Given the description of an element on the screen output the (x, y) to click on. 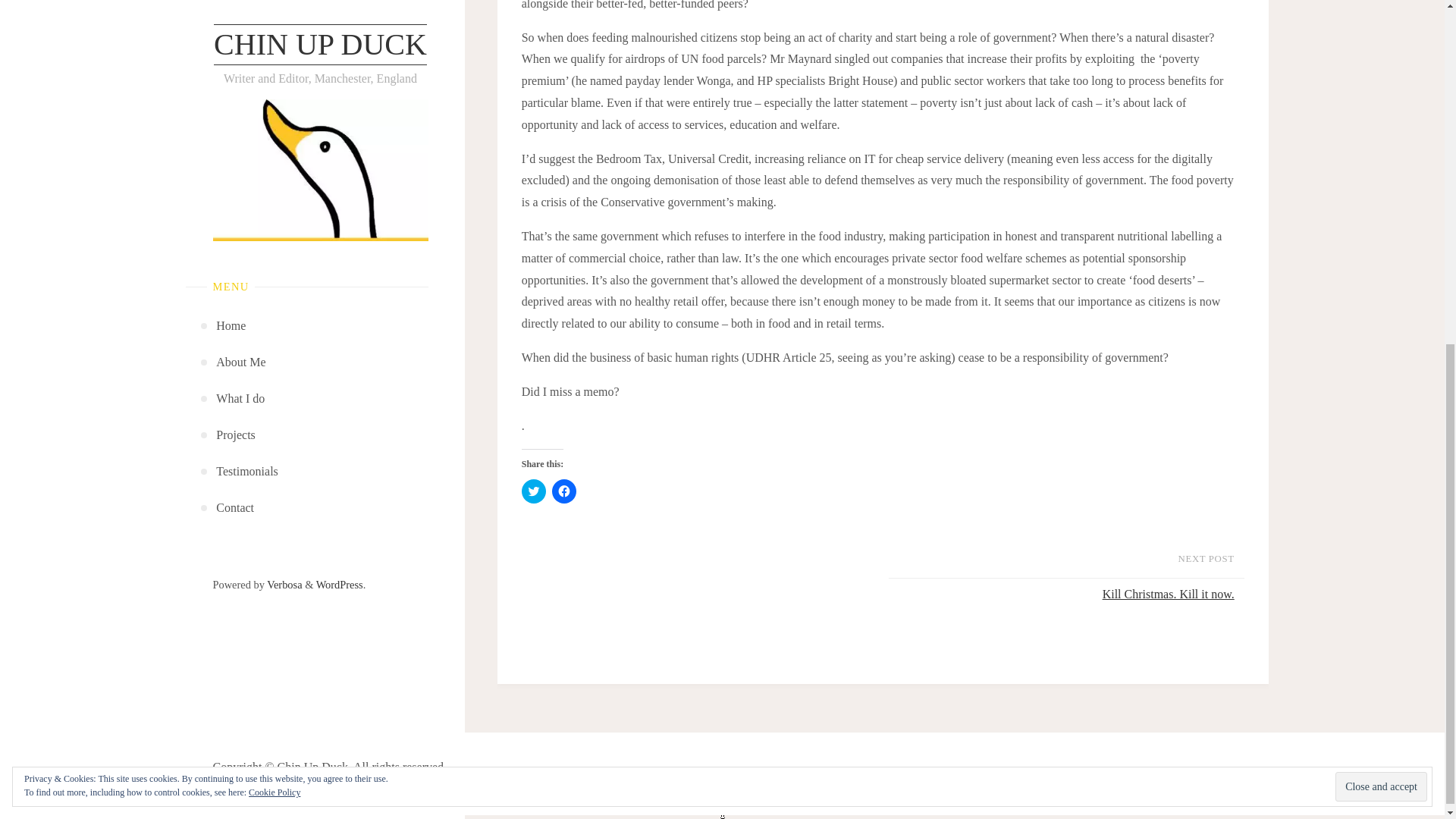
Click to share on Facebook (563, 491)
Close and accept (1380, 193)
Kill Christmas. Kill it now. (1062, 594)
Close and accept (1380, 193)
Click to share on Twitter (533, 491)
Cookie Policy (273, 198)
